Given the description of an element on the screen output the (x, y) to click on. 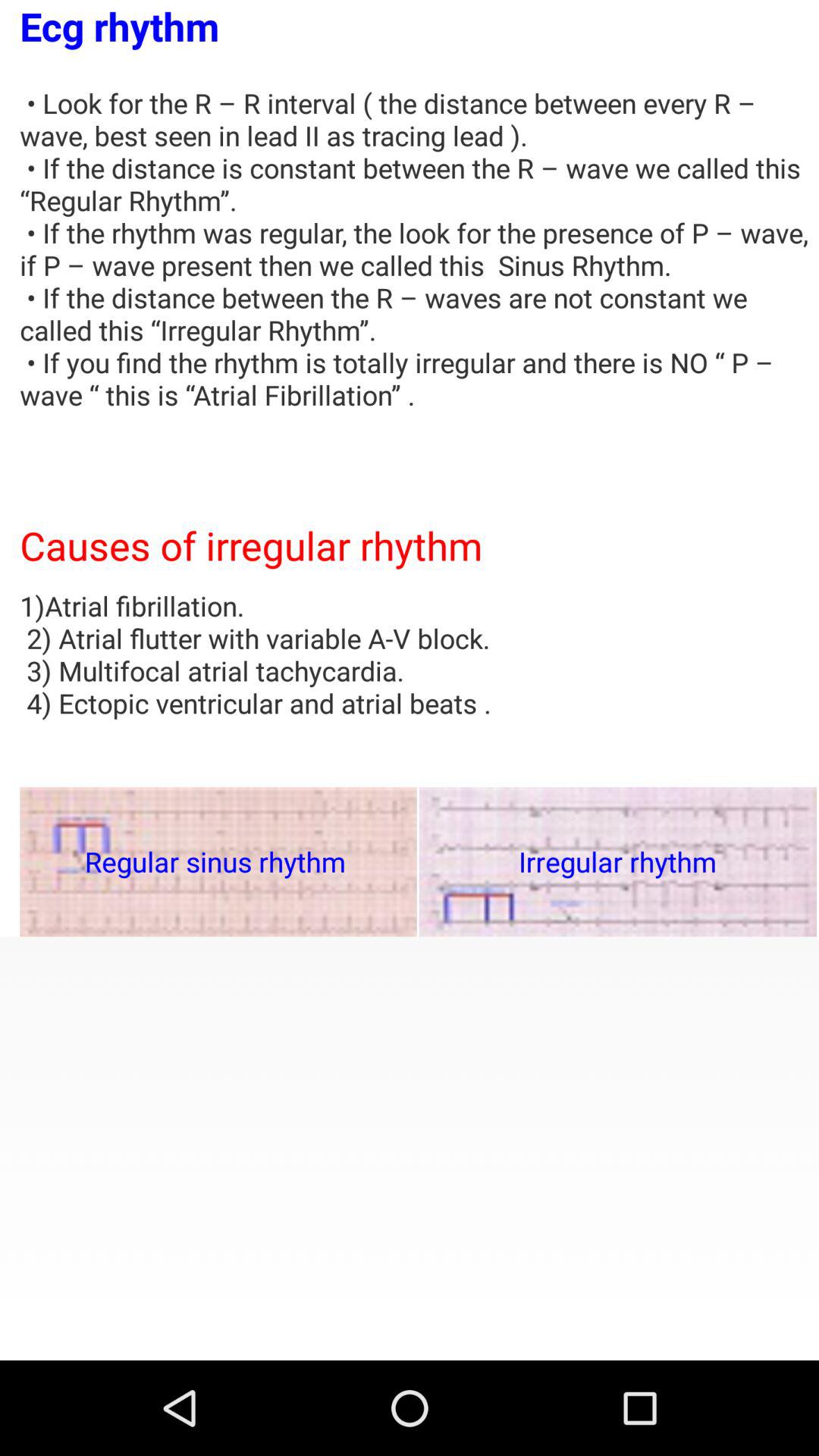
launch the button next to irregular rhythm button (217, 861)
